Given the description of an element on the screen output the (x, y) to click on. 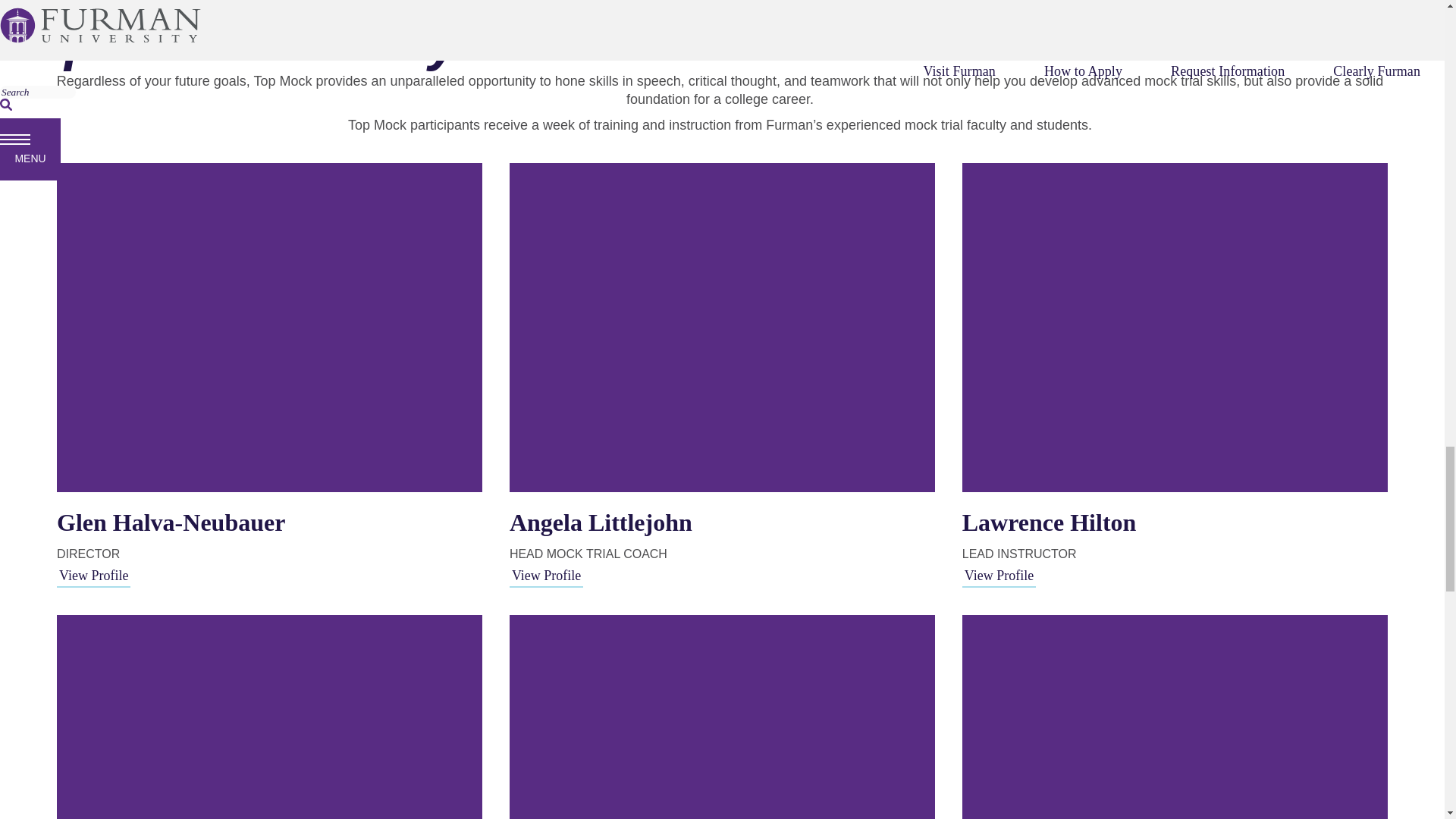
View Profile (998, 575)
View Profile (93, 575)
View Profile (546, 575)
